Given the description of an element on the screen output the (x, y) to click on. 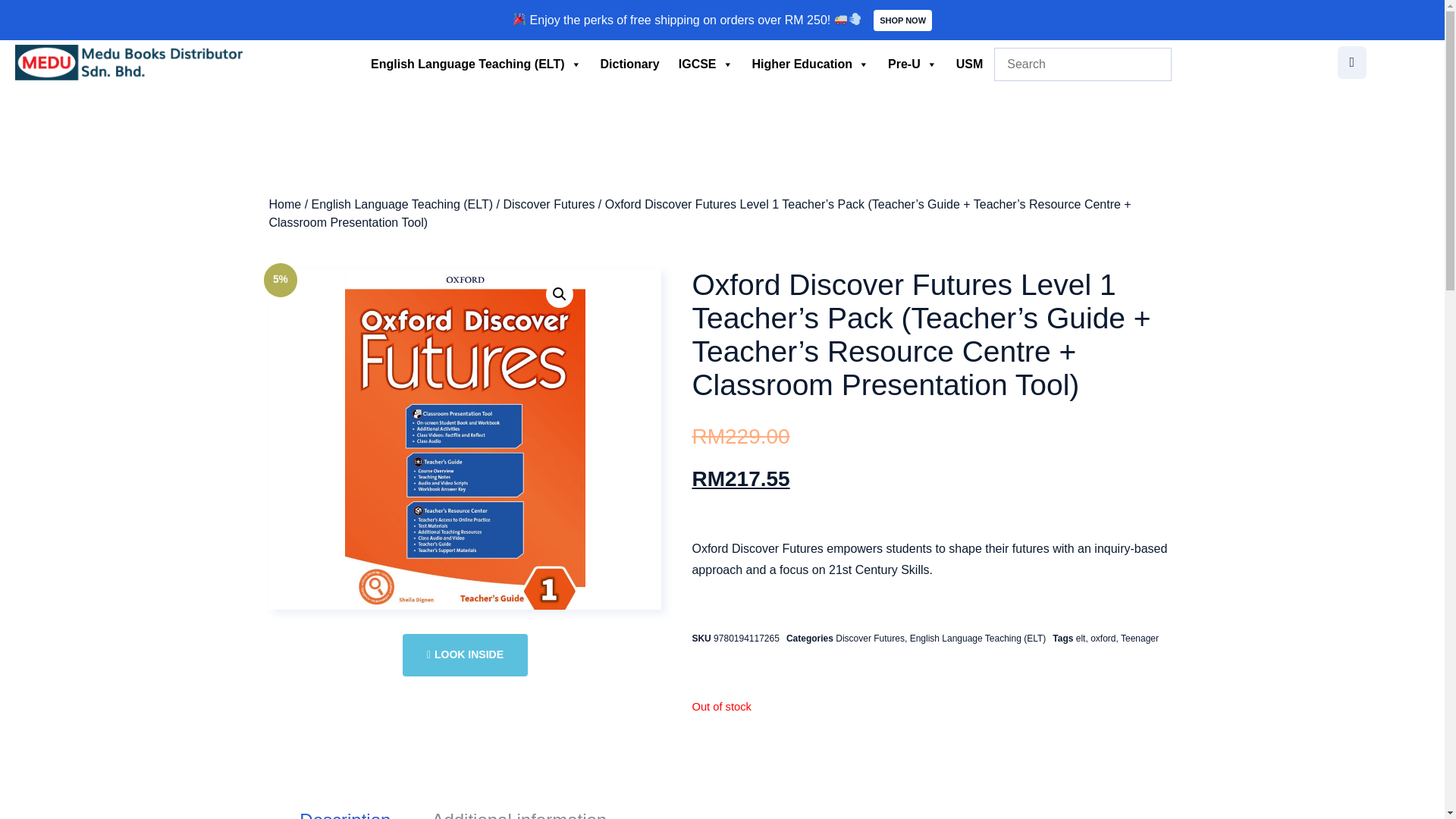
Dictionary (629, 64)
Discover Futures (548, 204)
Higher Education (810, 64)
Pre-U (912, 64)
SHOP NOW (902, 20)
IGCSE (706, 64)
USM (970, 64)
Home (284, 204)
